Given the description of an element on the screen output the (x, y) to click on. 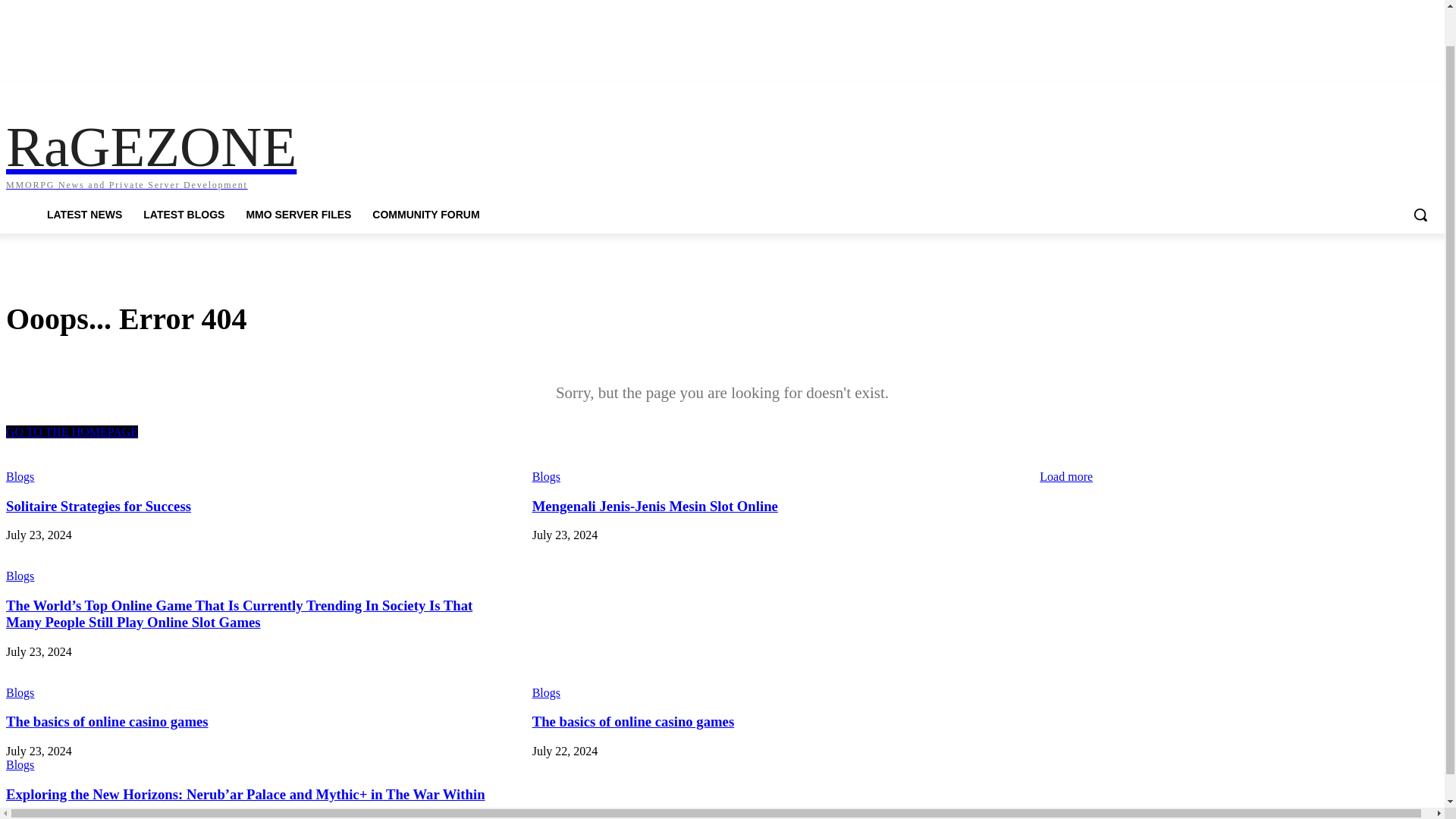
Mengenali Jenis-Jenis Mesin Slot Online (654, 505)
Solitaire Strategies for Success (97, 505)
Blogs (19, 765)
The basics of online casino games (220, 152)
MMO SERVER FILES (106, 721)
Blogs (297, 213)
Solitaire Strategies for Success (546, 693)
LATEST BLOGS (97, 505)
Blogs (183, 213)
GO TO THE HOMEPAGE (19, 477)
Blogs (71, 431)
COMMUNITY FORUM (19, 576)
Mengenali Jenis-Jenis Mesin Slot Online (428, 213)
Go to the homepage (654, 505)
